Given the description of an element on the screen output the (x, y) to click on. 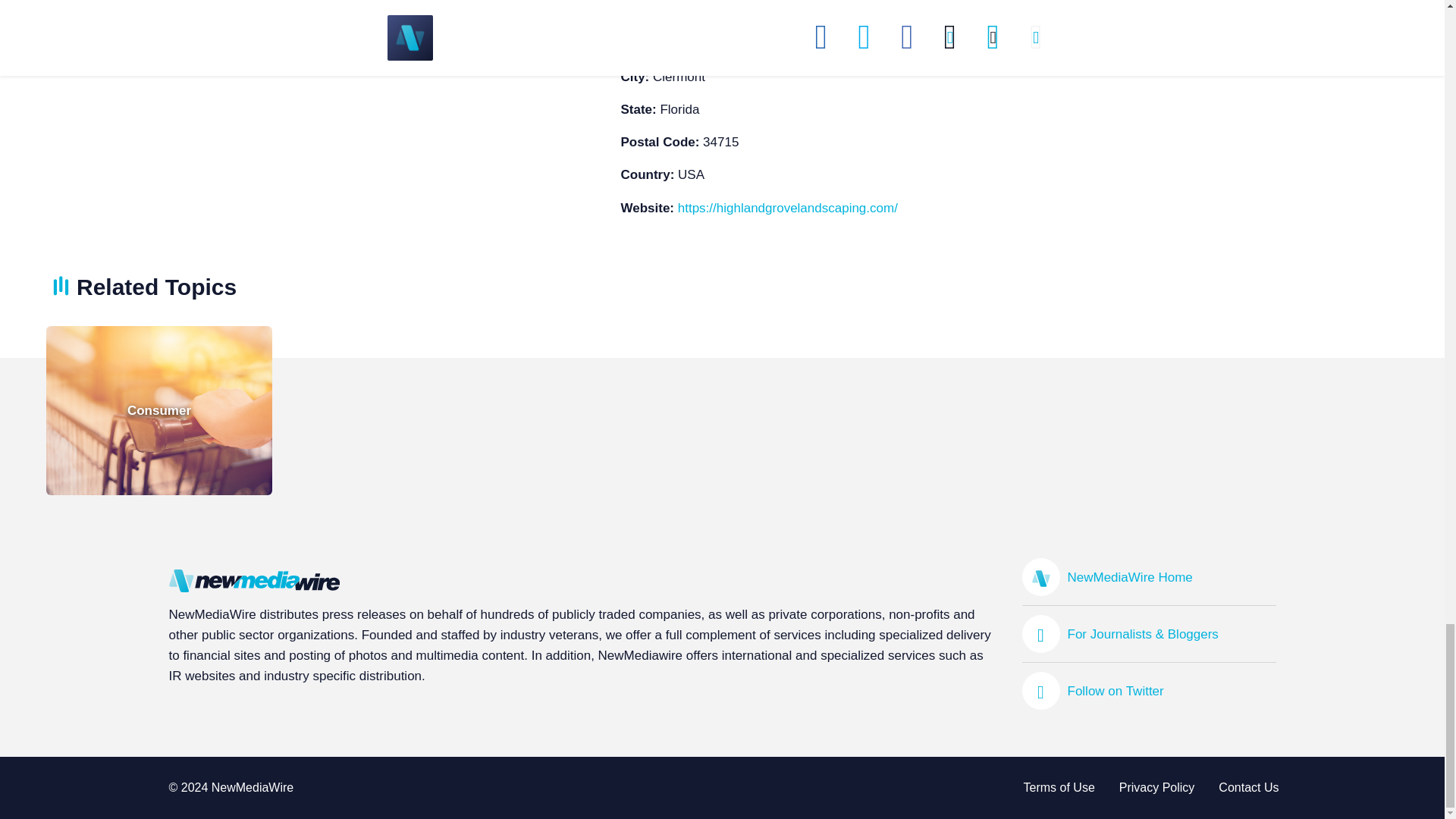
NewMediaWire Home (1149, 576)
Consumer (159, 410)
Contact Us (1149, 690)
Privacy Policy (1248, 787)
Terms of Use (1156, 787)
